Given the description of an element on the screen output the (x, y) to click on. 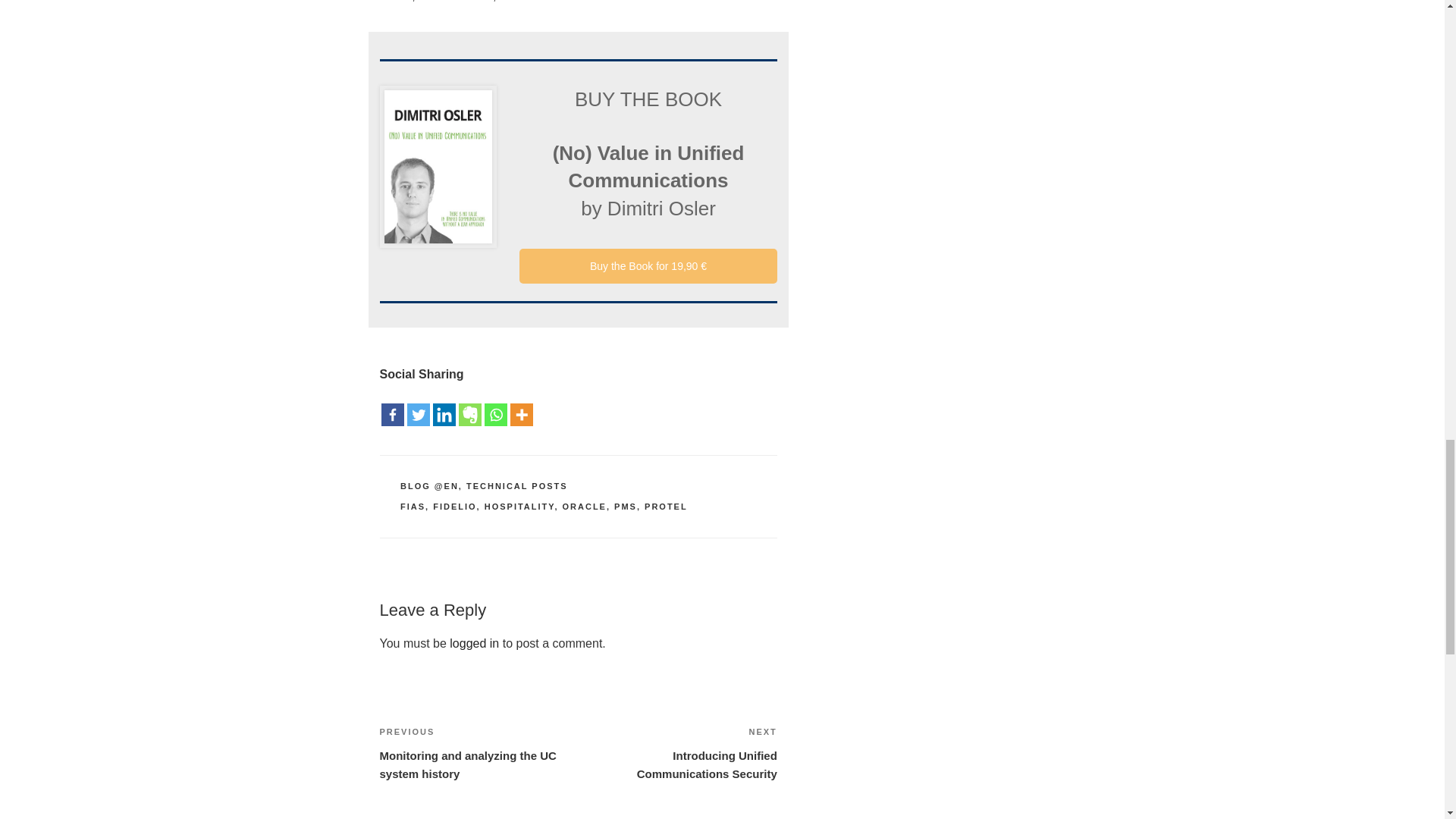
TECHNICAL POSTS (516, 485)
logged in (677, 752)
ORACLE (474, 643)
FIDELIO (584, 506)
FIAS (454, 506)
PROTEL (412, 506)
PMS (666, 506)
HOSPITALITY (625, 506)
